Given the description of an element on the screen output the (x, y) to click on. 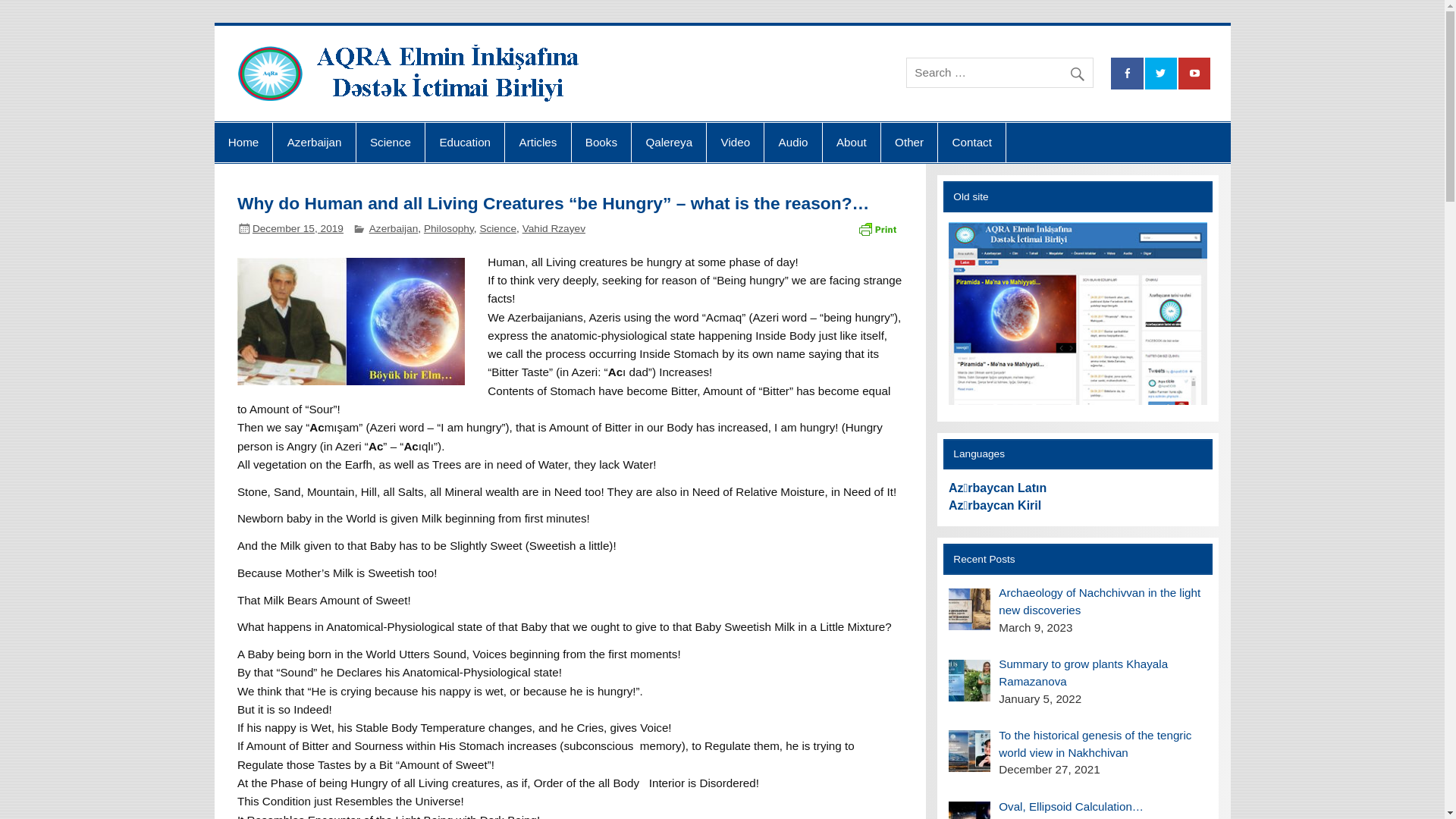
Vahid Rzayev Element type: text (553, 228)
Summary to grow plants Khayala Ramazanova Element type: text (1082, 672)
Home Element type: text (242, 142)
About Element type: text (851, 142)
Articles Element type: text (537, 142)
Books Element type: text (601, 142)
Azerbaijan Element type: text (313, 142)
December 15, 2019 Element type: text (297, 228)
Azerbaijan Element type: text (393, 228)
Education Element type: text (464, 142)
Qalereya Element type: text (668, 142)
Contact Element type: text (971, 142)
Science Element type: text (390, 142)
Audio Element type: text (792, 142)
Video Element type: text (734, 142)
Science Element type: text (497, 228)
Philosophy Element type: text (448, 228)
Printer Friendly, PDF & Email Element type: hover (877, 228)
Archaeology of Nachchivvan in the light new discoveries Element type: text (1099, 601)
Other Element type: text (909, 142)
